Given the description of an element on the screen output the (x, y) to click on. 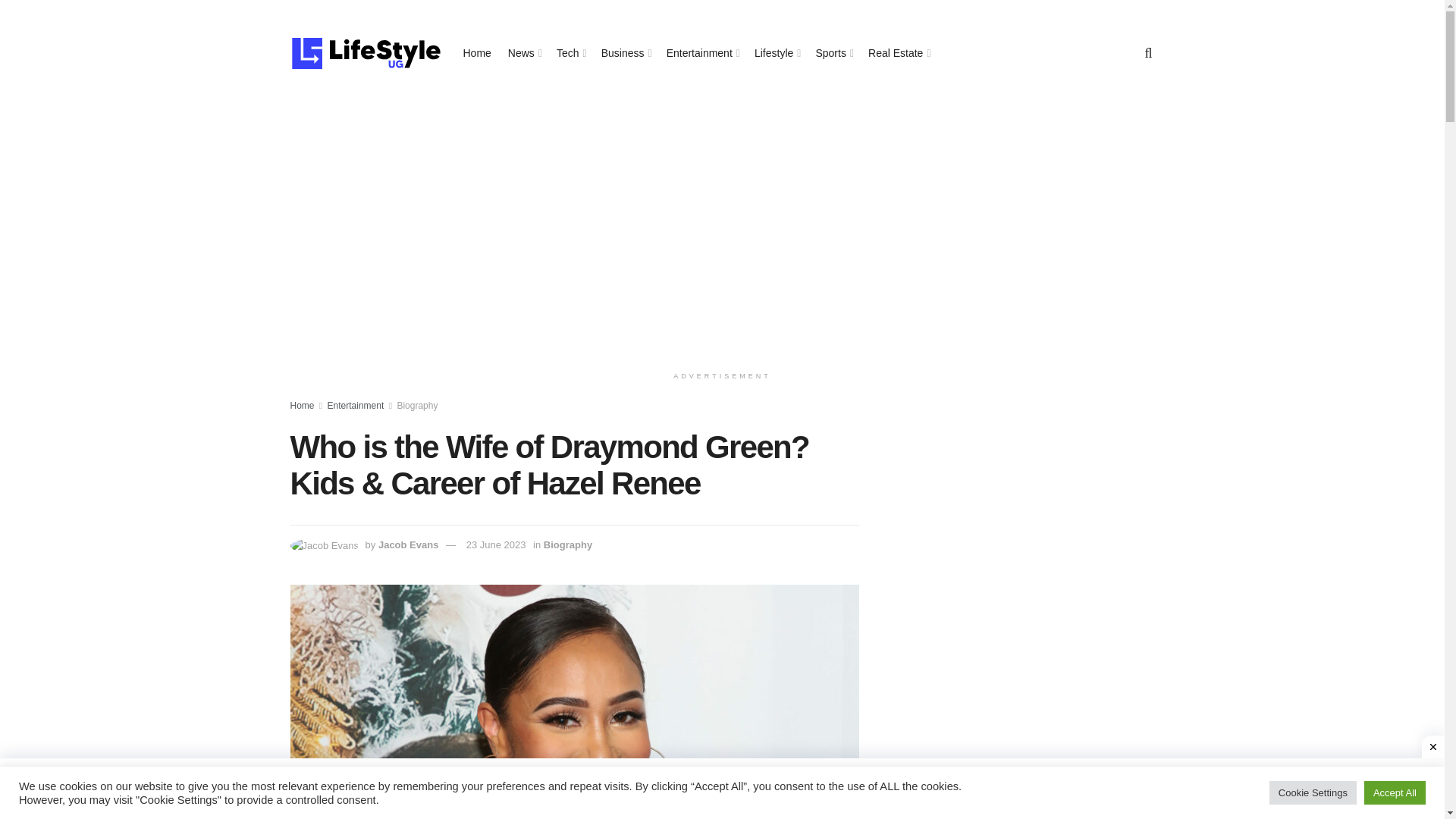
Advertisement (1023, 510)
Lifestyle (775, 52)
Business (625, 52)
Home (301, 405)
Home (476, 52)
Jacob Evans (408, 544)
Tech (570, 52)
23 June 2023 (495, 544)
News (524, 52)
